Given the description of an element on the screen output the (x, y) to click on. 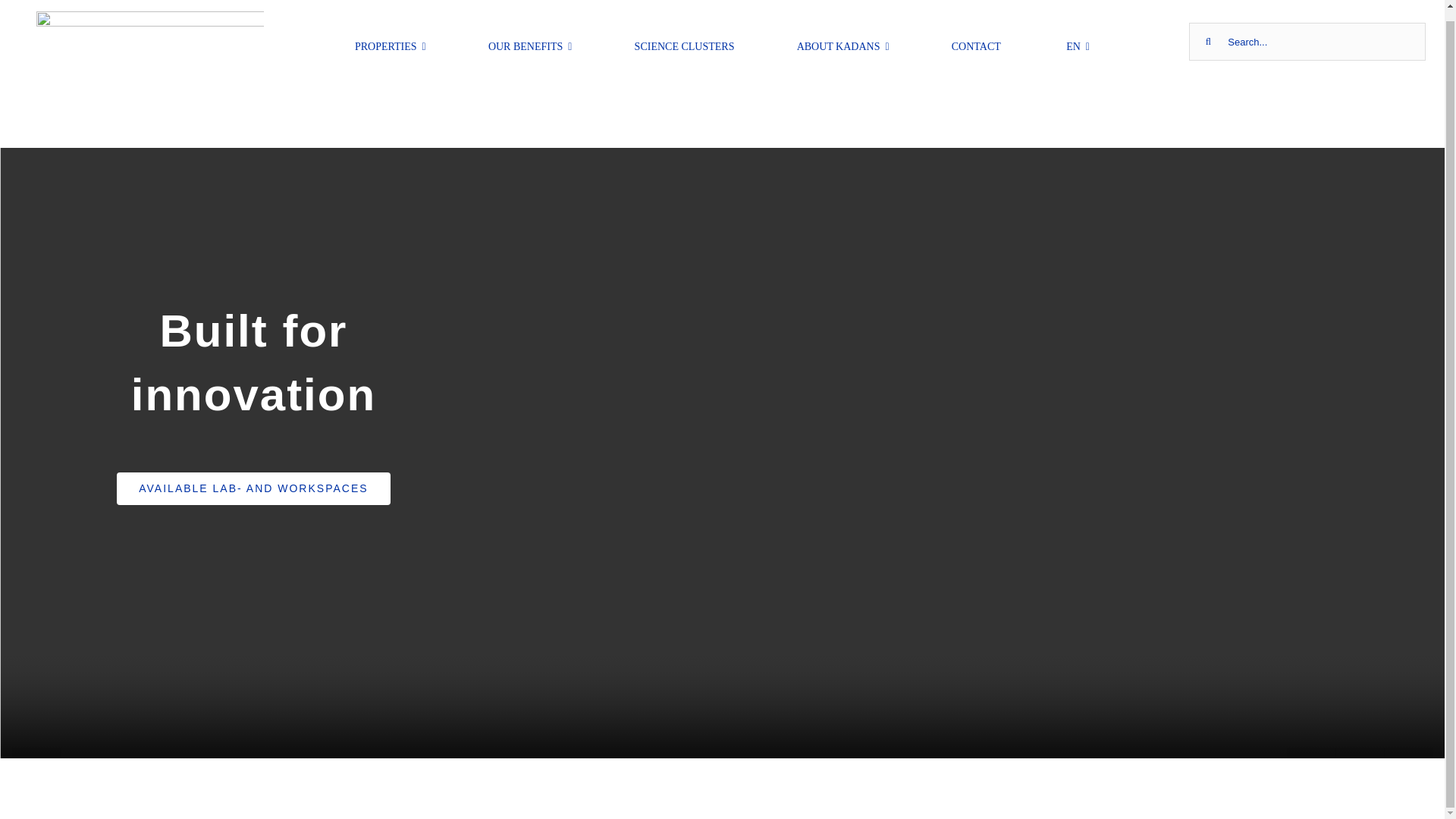
AVAILABLE LAB- AND WORKSPACES (253, 488)
ABOUT KADANS (842, 41)
PROPERTIES (390, 41)
OUR BENEFITS (529, 41)
CONTACT (976, 41)
SCIENCE CLUSTERS (684, 41)
